Given the description of an element on the screen output the (x, y) to click on. 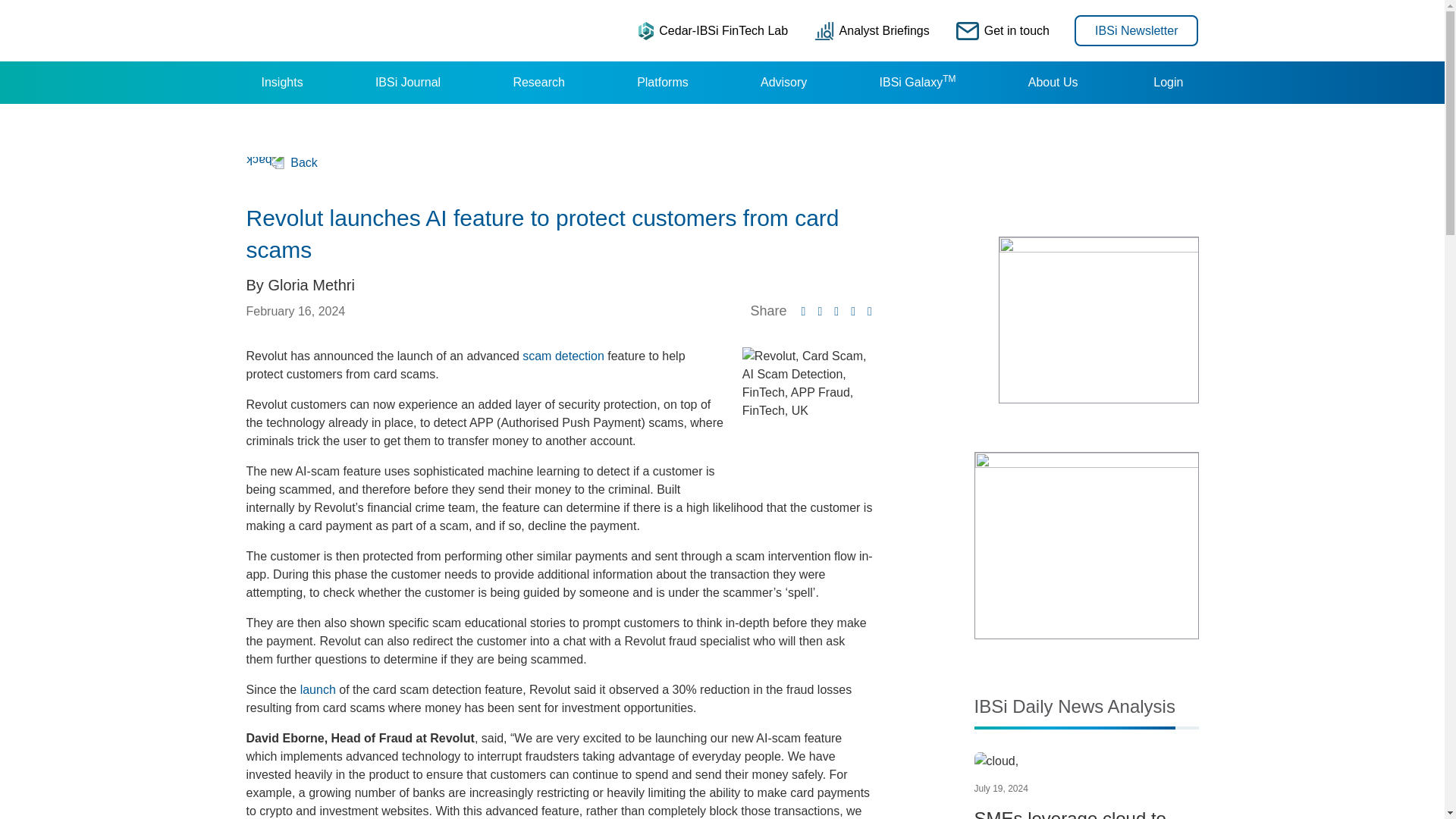
IBSi Journal (407, 82)
Insights (281, 82)
Cedar-IBSi FinTech Lab (712, 30)
IBSi Newsletter (1136, 30)
Get in touch (1002, 30)
Research (538, 82)
Analyst Briefings (871, 30)
